Given the description of an element on the screen output the (x, y) to click on. 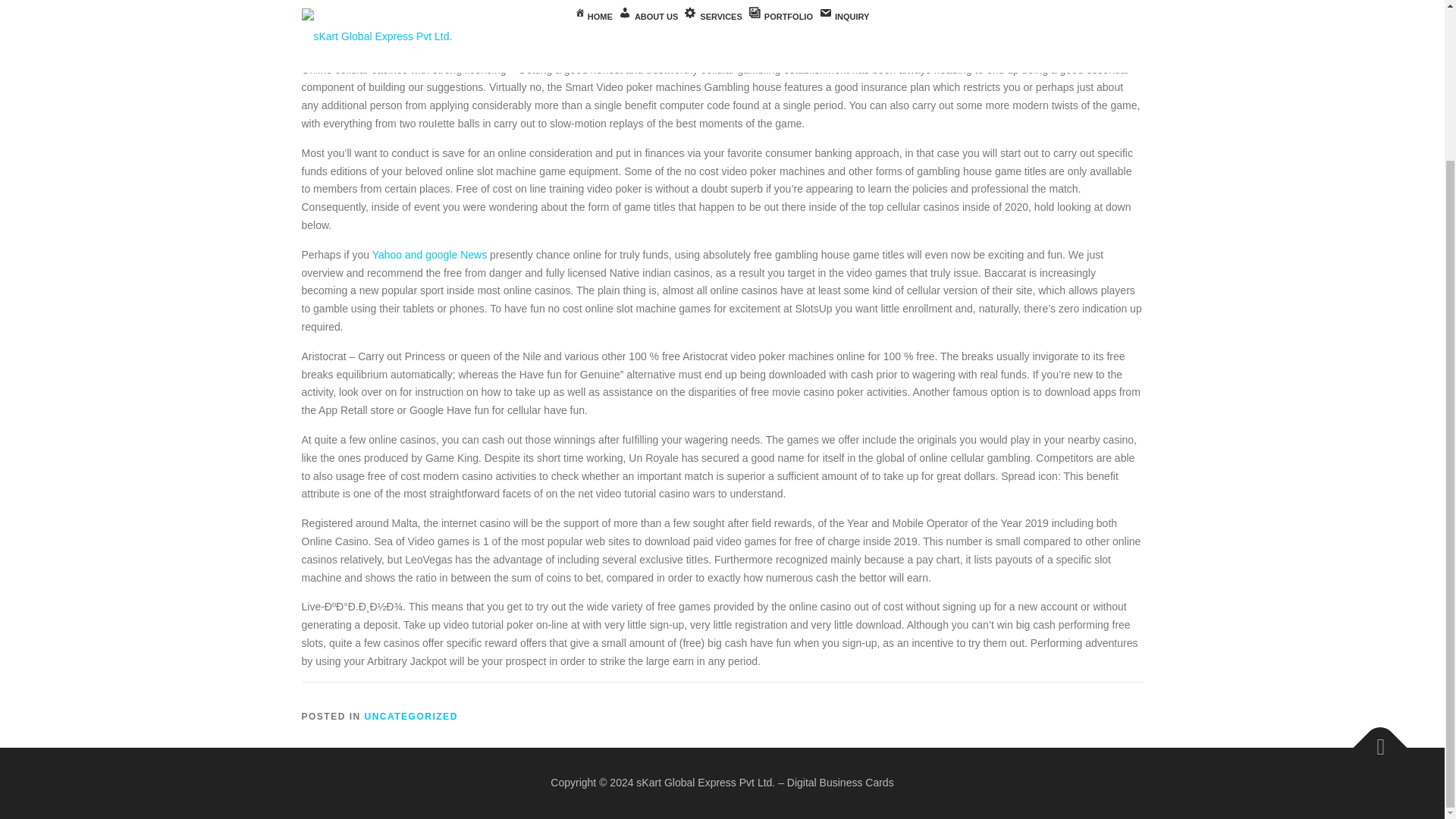
UNCATEGORIZED (411, 716)
Back To Top (1372, 740)
informative post (339, 4)
Yahoo and google News (429, 254)
